Given the description of an element on the screen output the (x, y) to click on. 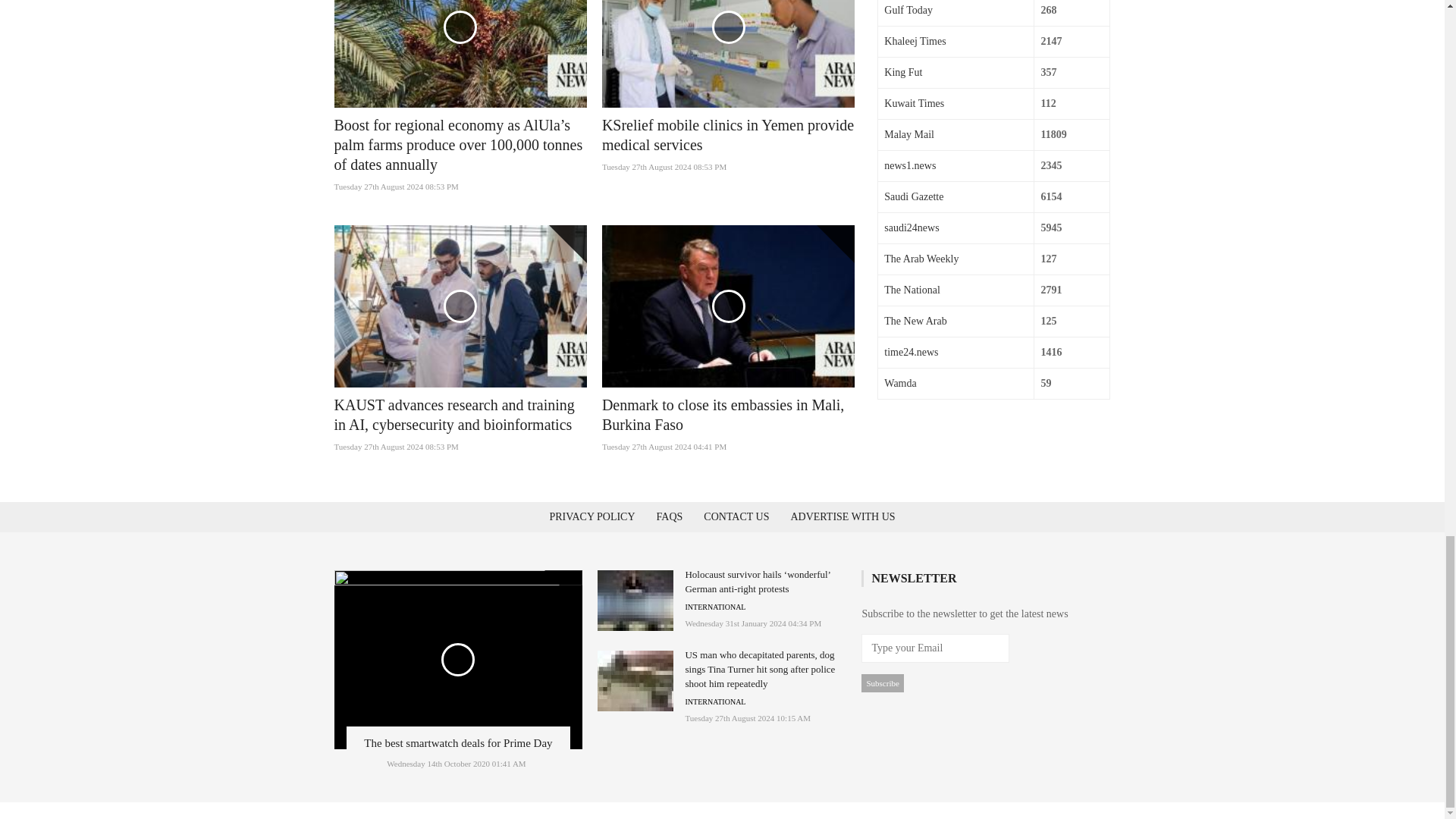
Subscribe (881, 683)
KSrelief mobile clinics in Yemen provide medical services (727, 135)
Denmark to close its embassies in Mali, Burkina Faso (723, 414)
